Given the description of an element on the screen output the (x, y) to click on. 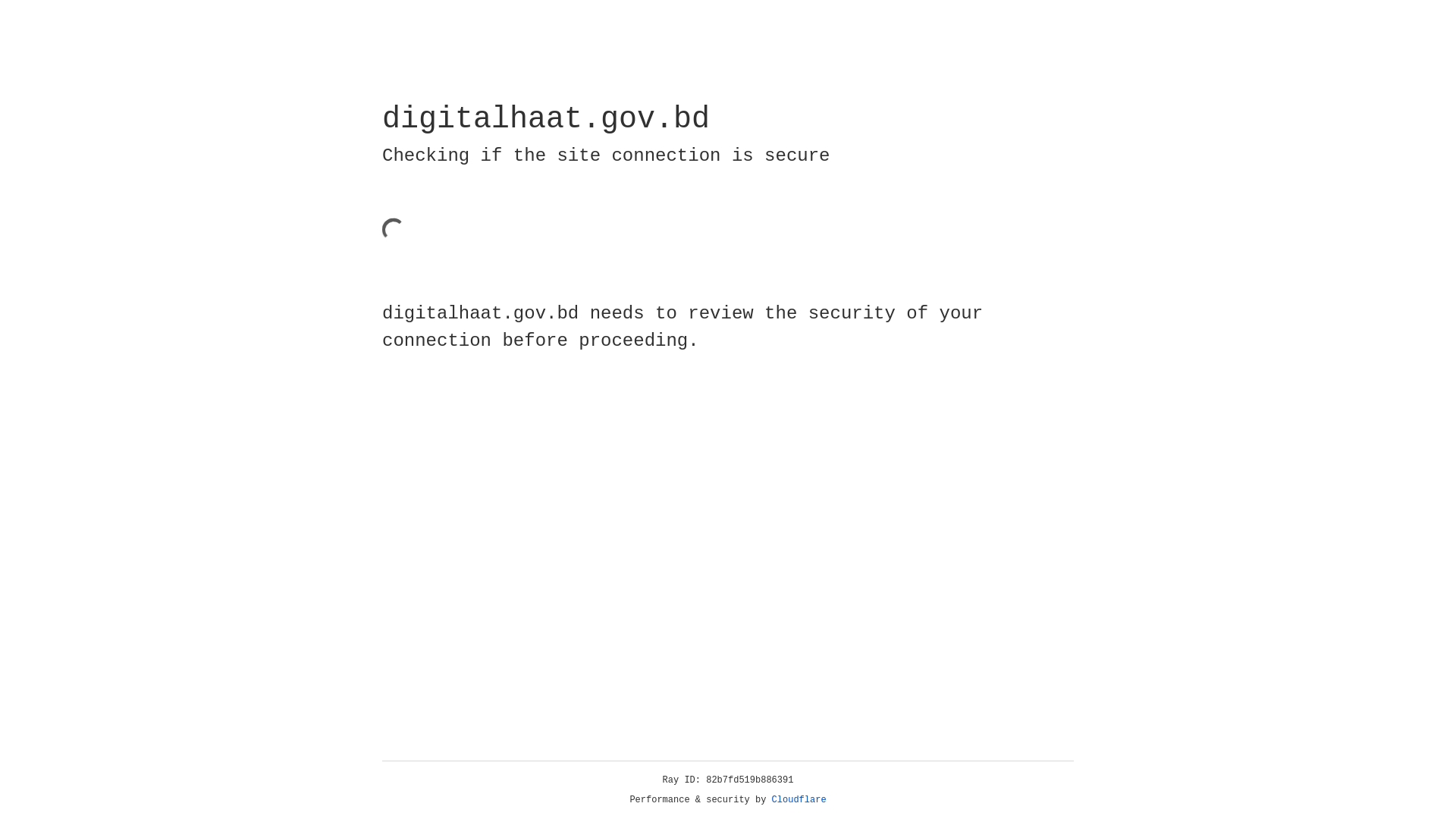
Cloudflare Element type: text (798, 799)
